Given the description of an element on the screen output the (x, y) to click on. 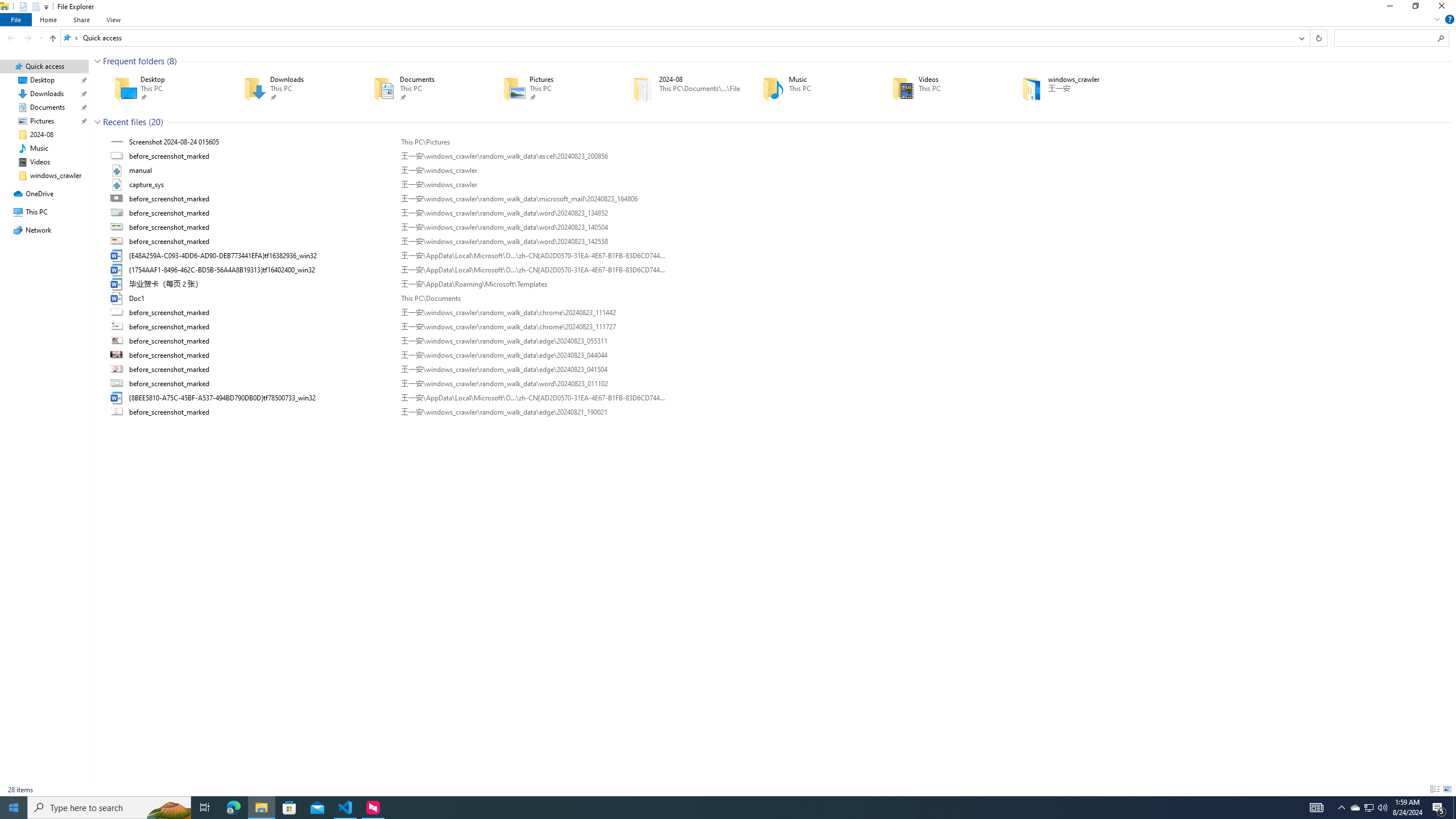
Share (81, 19)
Help (1449, 19)
Navigation buttons (24, 37)
before_screenshot_marked (777, 411)
Class: UIImage (117, 411)
Forward (Alt + Right Arrow) (27, 37)
Name (261, 411)
Quick access (101, 37)
windows_crawler (1070, 88)
Collapse Group (97, 121)
Pinned (1088, 96)
Search (1441, 37)
All locations (70, 37)
Previous Locations (1301, 37)
